Given the description of an element on the screen output the (x, y) to click on. 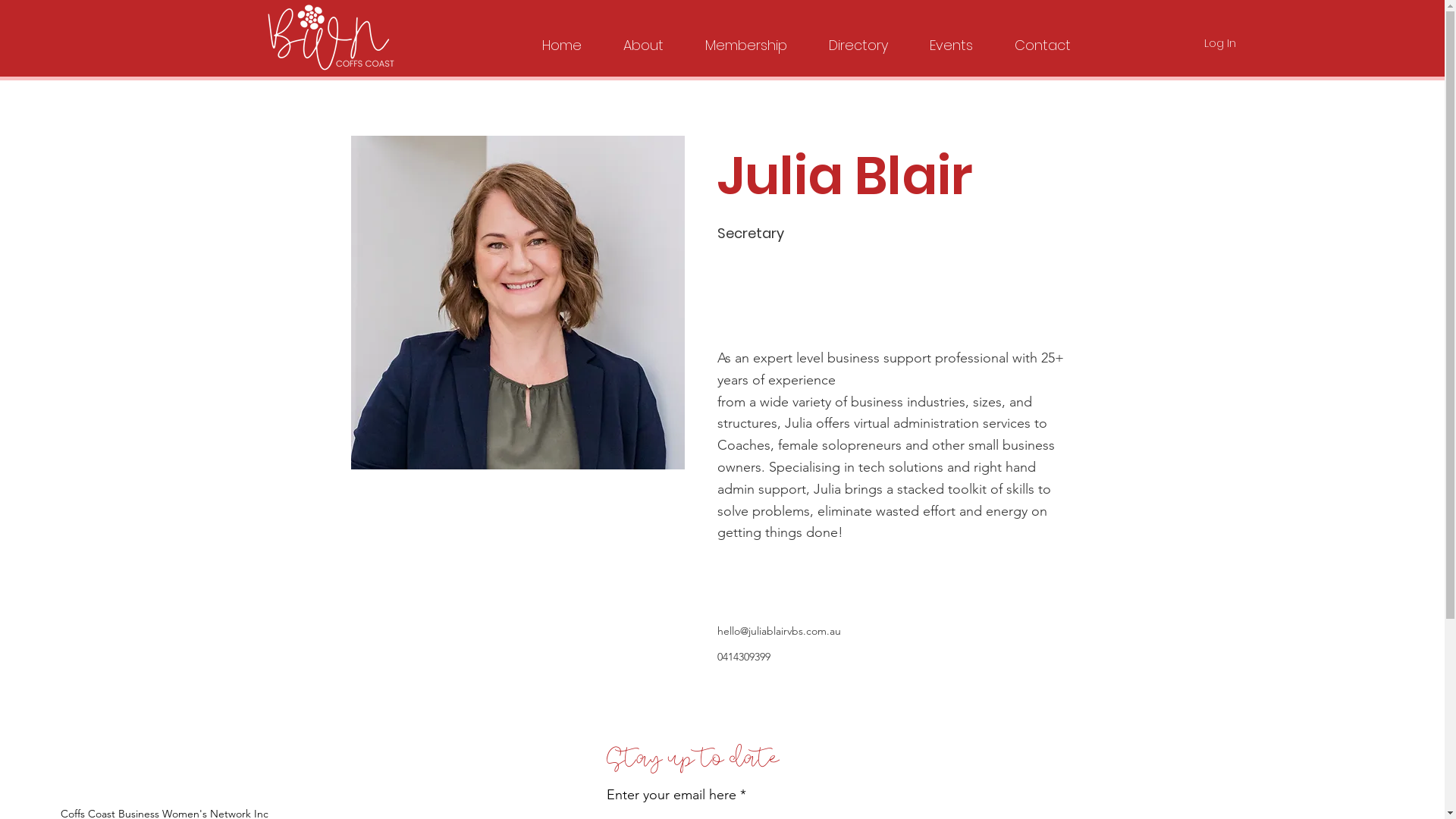
Events Element type: text (950, 38)
Julia2022_0108(12of52)_edited.jpg Element type: hover (517, 302)
Log In Element type: text (1219, 42)
Contact Element type: text (1041, 38)
Directory Element type: text (858, 38)
hello@juliablairvbs.com.au Element type: text (778, 630)
Home Element type: text (561, 38)
